Given the description of an element on the screen output the (x, y) to click on. 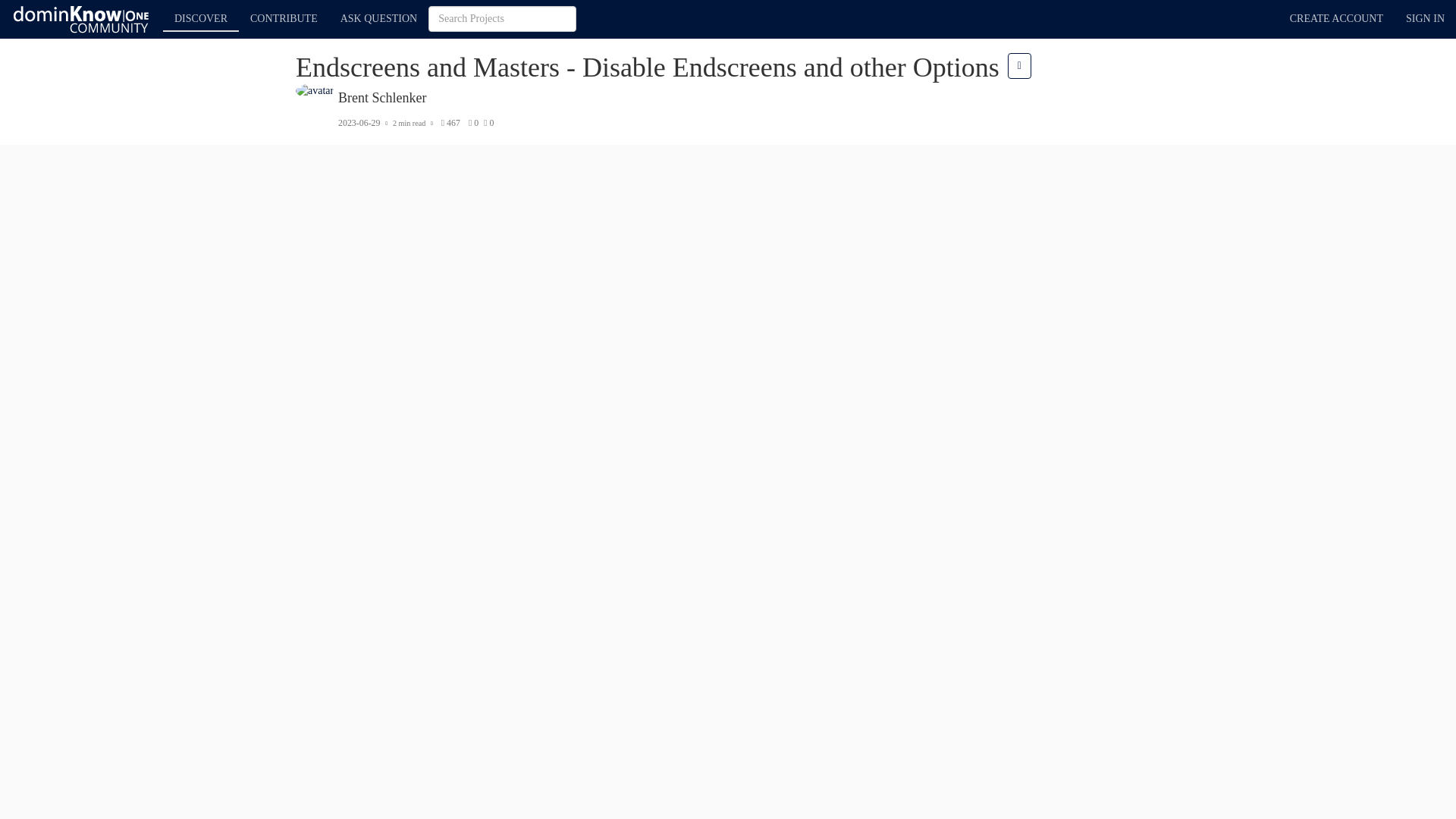
Brent Schlenker (381, 97)
CONTRIBUTE (283, 15)
Share this article (1018, 65)
CREATE ACCOUNT (1336, 18)
Create new projects (283, 15)
Browse projects and collections (200, 18)
Create a new account (1336, 18)
Open landing page (81, 18)
Ask a question (379, 15)
DISCOVER (200, 15)
ASK QUESTION (379, 15)
